Given the description of an element on the screen output the (x, y) to click on. 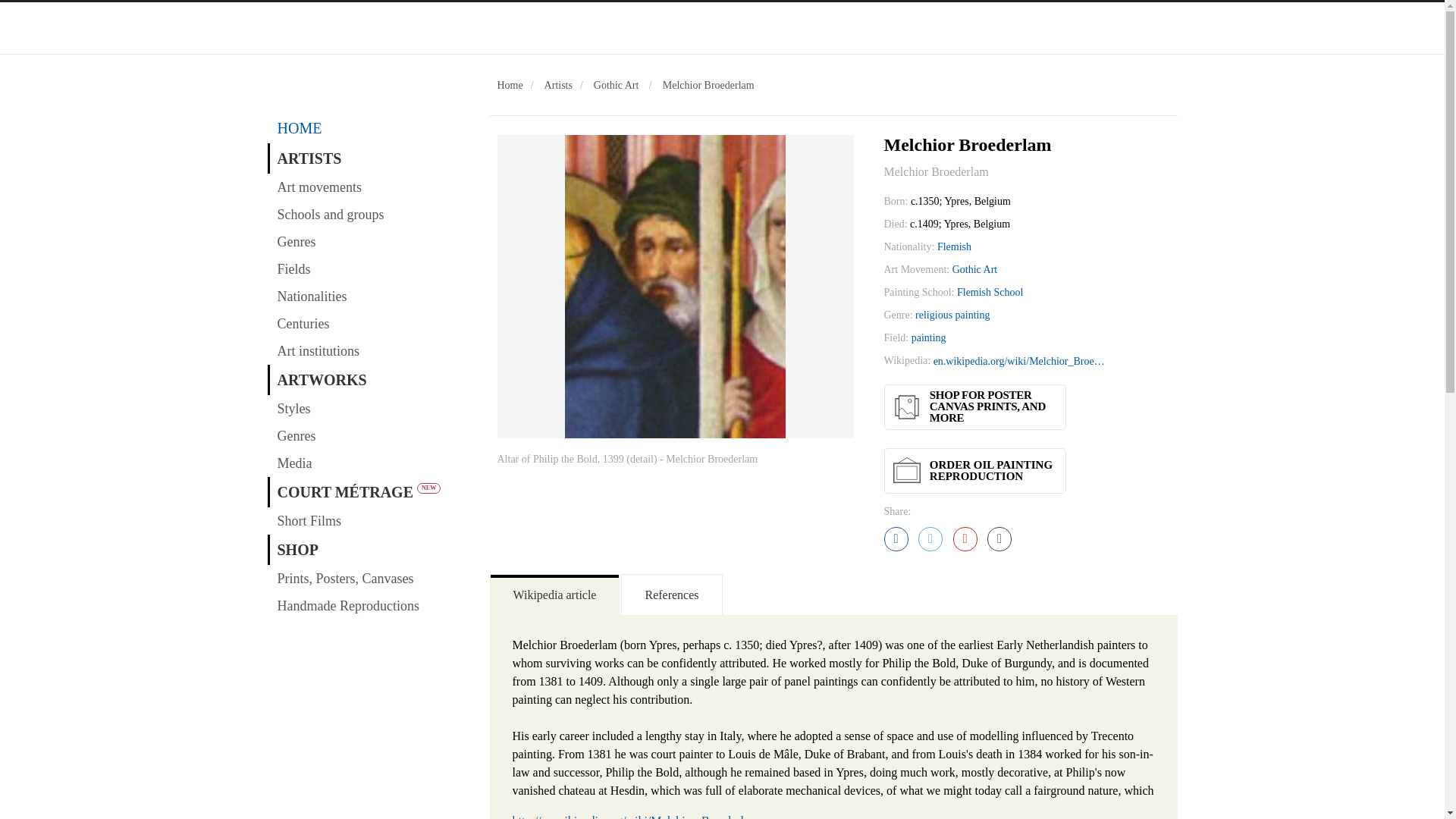
Prints, Posters, Canvases (370, 578)
Fields (370, 268)
Centuries (370, 323)
Home (509, 84)
Styles (370, 408)
Media (370, 462)
Genres (370, 241)
ARTWORKS (370, 379)
Art movements (370, 186)
HOME (370, 128)
